Given the description of an element on the screen output the (x, y) to click on. 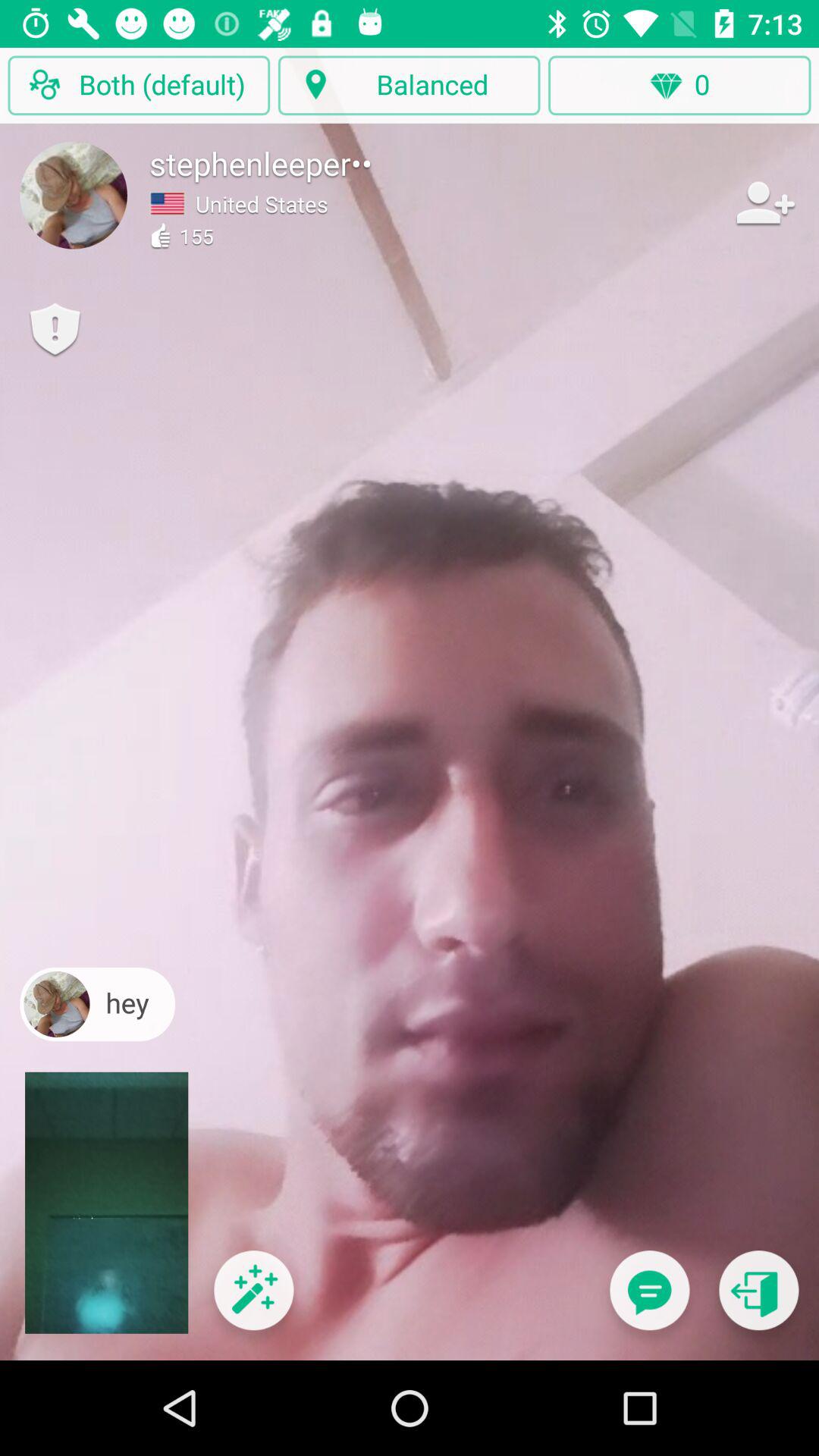
exit (758, 1300)
